Given the description of an element on the screen output the (x, y) to click on. 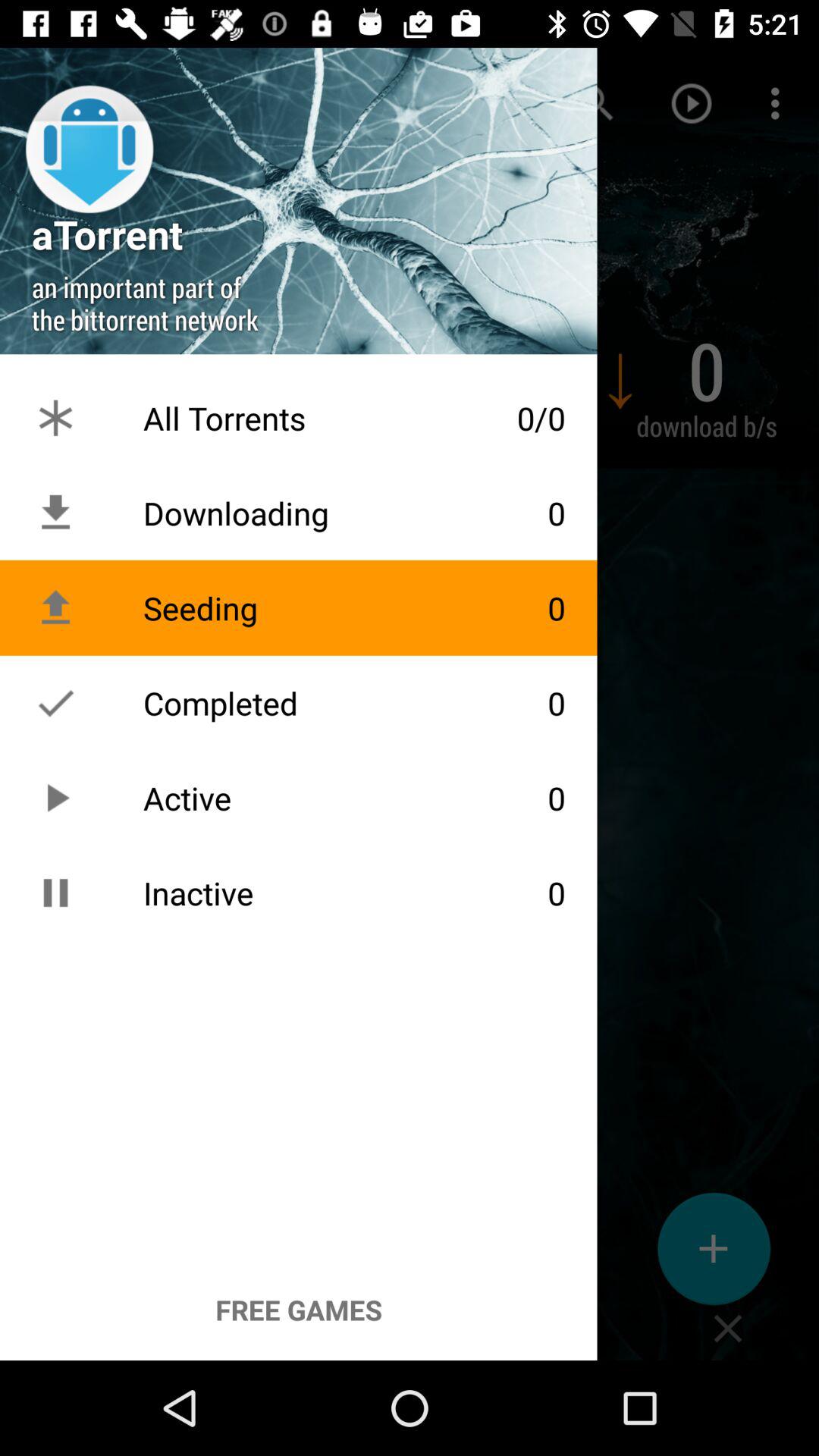
click on the more options icon on the top right of the page (779, 103)
click on the download icon (55, 512)
click on the icon which is left of the text completed (55, 703)
